Given the description of an element on the screen output the (x, y) to click on. 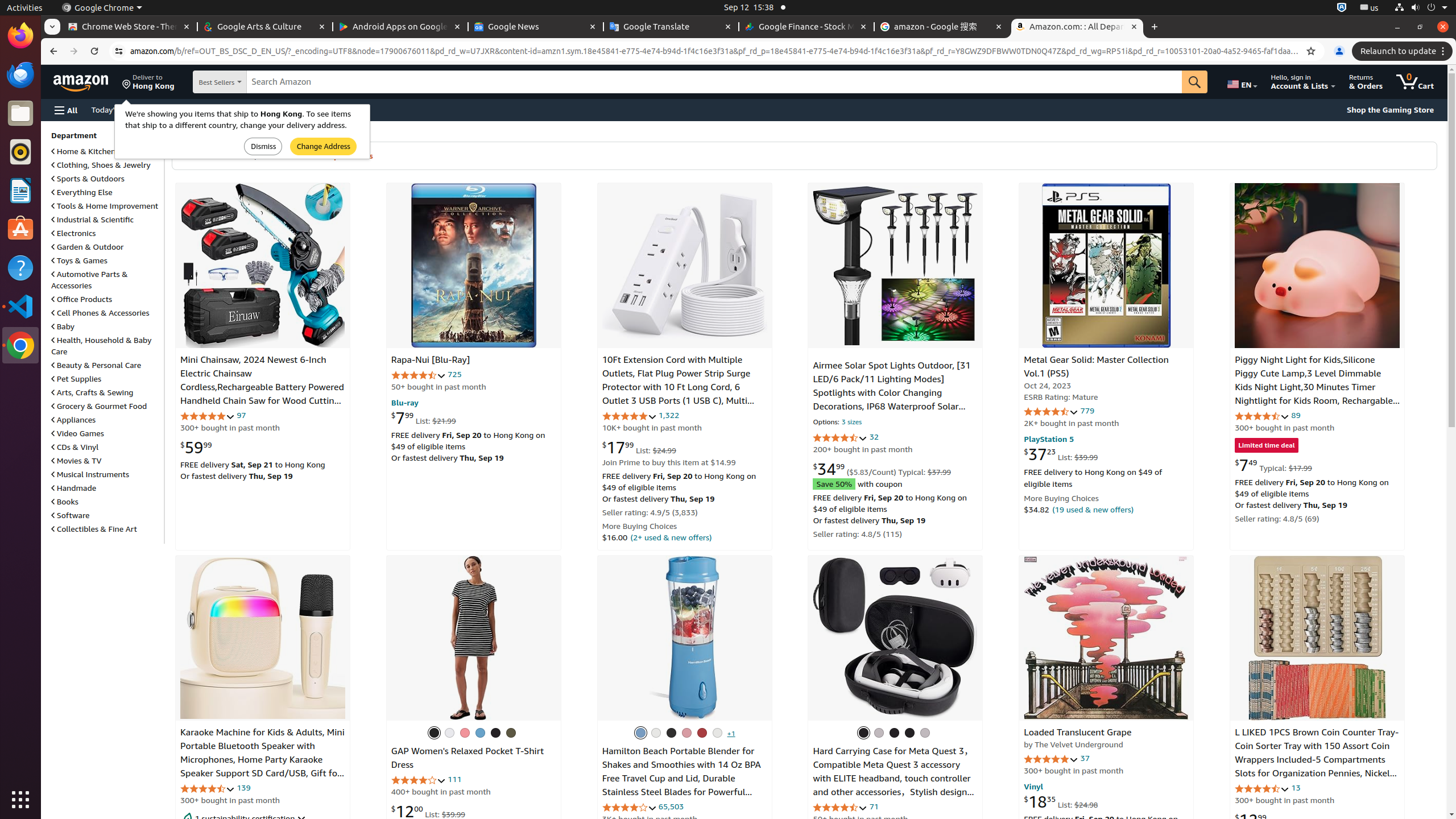
Mini Chainsaw, 2024 Newest 6-Inch Electric Chainsaw Cordless,Rechargeable Battery Powered Handheld Chain Saw for Wood Cutt... Element type: link (262, 265)
Blu-ray Element type: link (404, 401)
amazon - Google 搜索 - Memory usage - 96.2 MB Element type: page-tab (941, 26)
37 Element type: link (1084, 757)
Google Arts & Culture - Memory usage - 57.6 MB Element type: page-tab (264, 26)
